Given the description of an element on the screen output the (x, y) to click on. 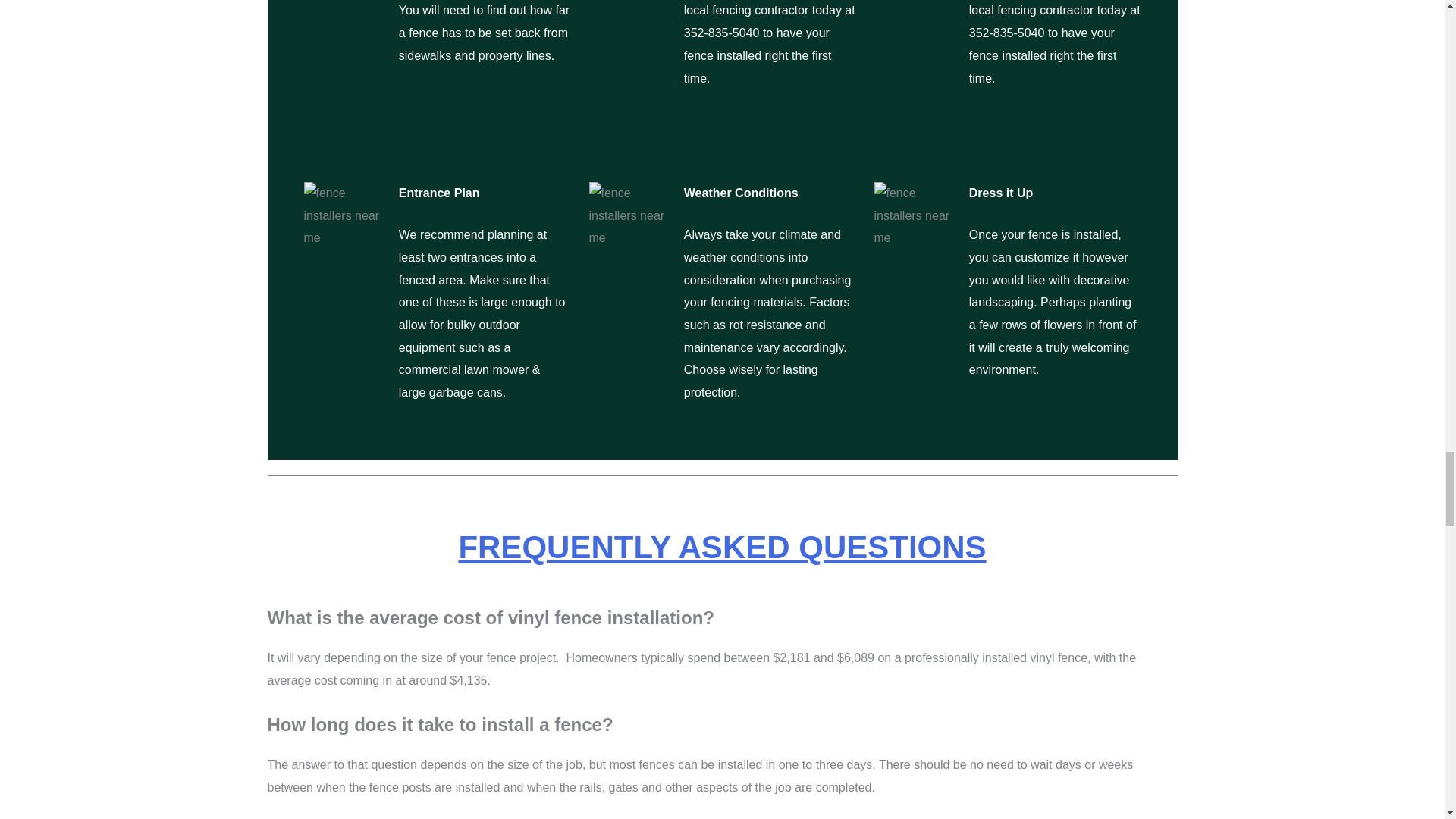
Frequently Asked Questions (721, 547)
